Given the description of an element on the screen output the (x, y) to click on. 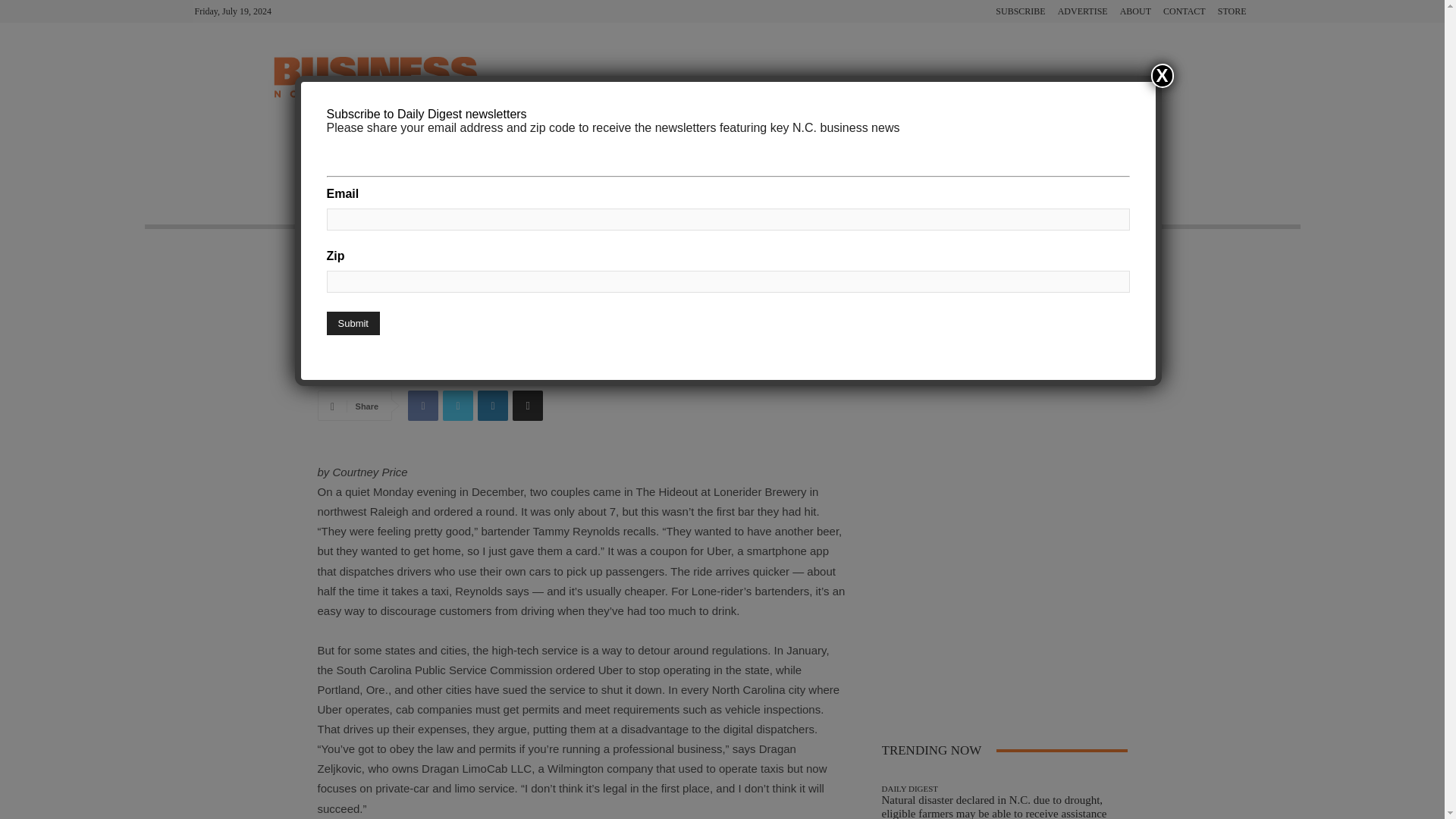
Facebook (422, 405)
Linkedin (492, 405)
Submit (352, 323)
BusinessNC (328, 329)
Email (527, 405)
Twitter (457, 405)
